Given the description of an element on the screen output the (x, y) to click on. 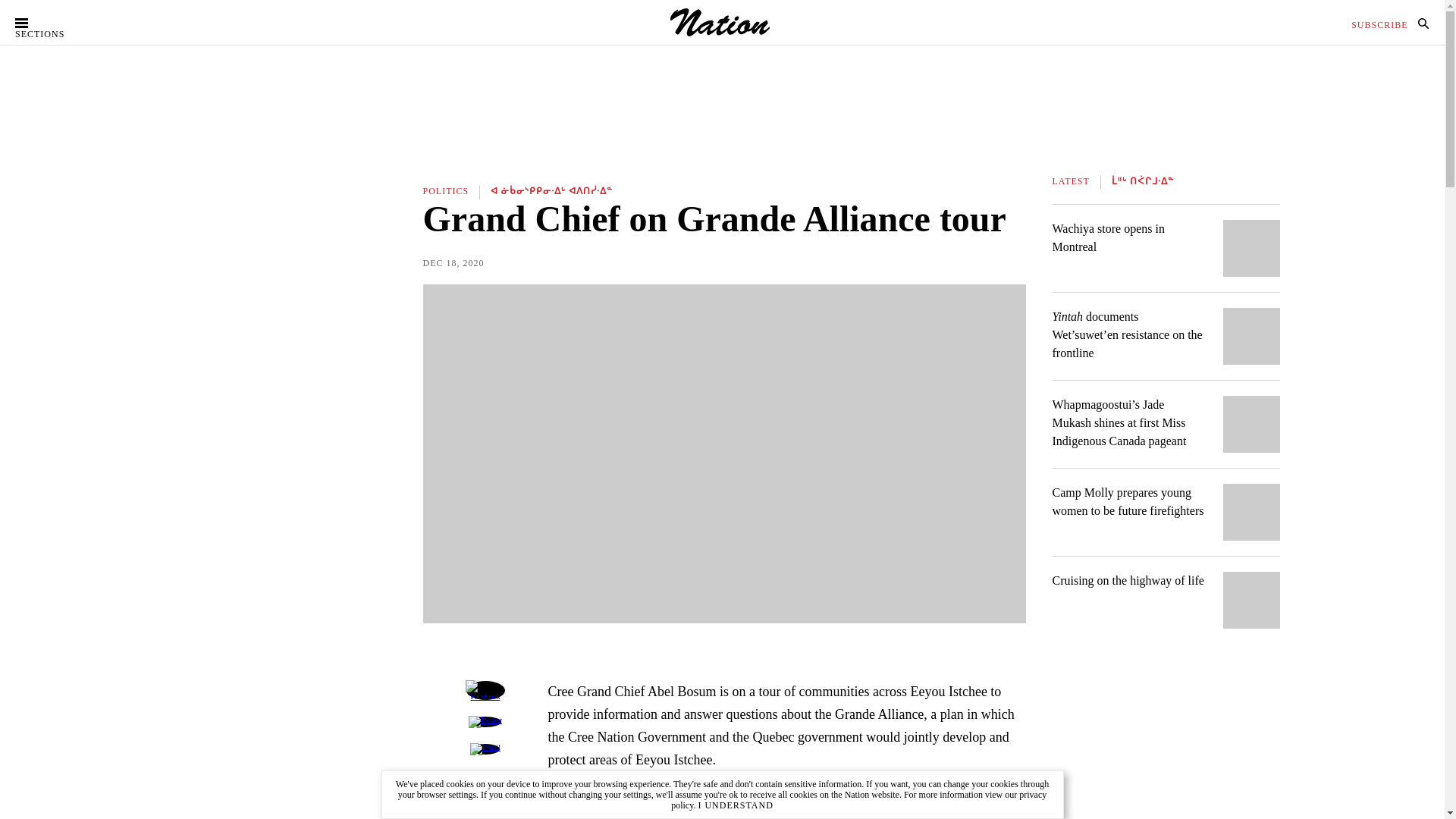
Open menu (47, 23)
SECTIONS (47, 23)
SUBSCRIBE (1379, 24)
Close cookie notification (735, 805)
